Given the description of an element on the screen output the (x, y) to click on. 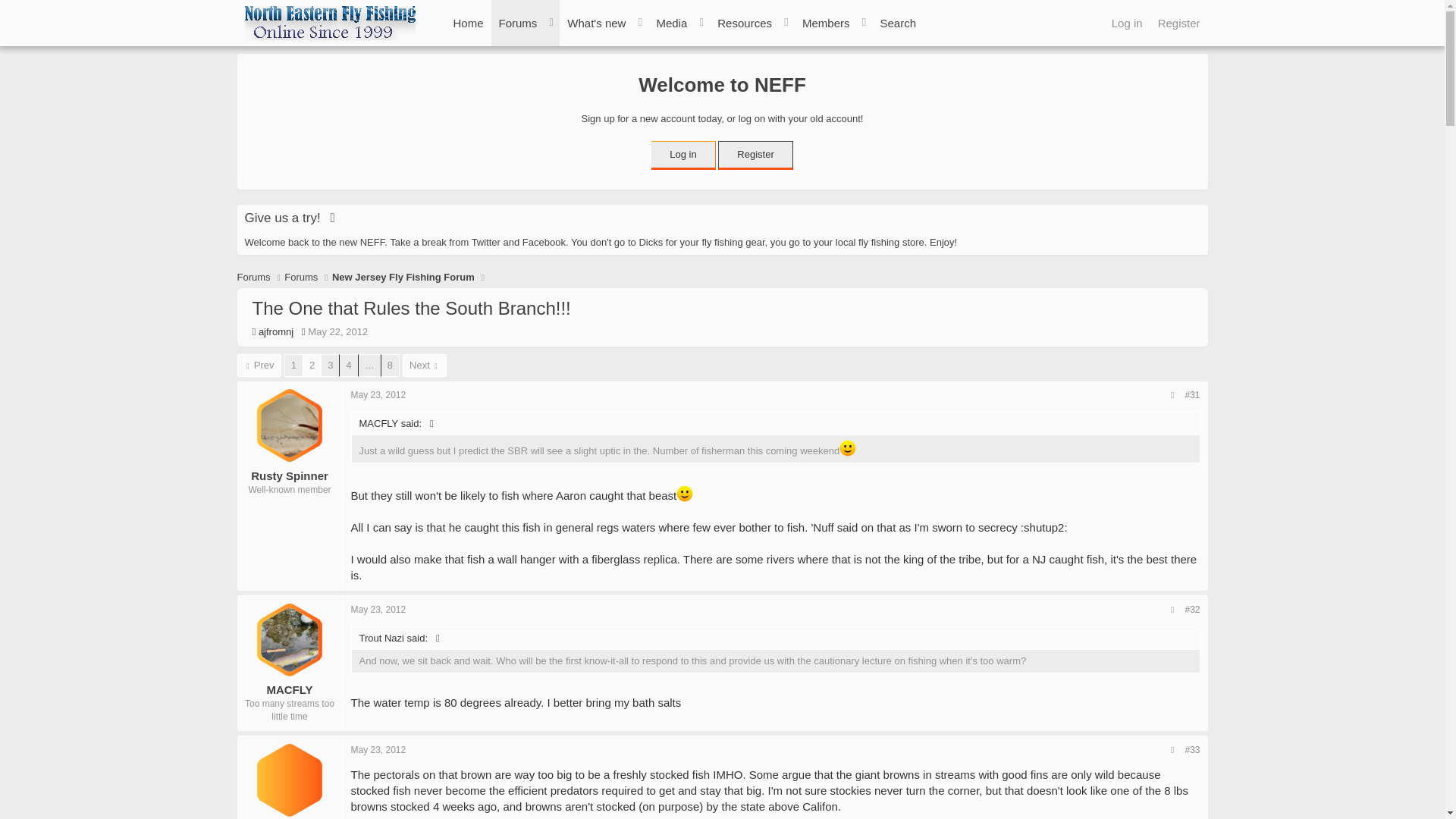
Members (825, 22)
May 23, 2012 at 1:09 PM (378, 394)
Media (670, 22)
Log in (575, 22)
Home (1126, 22)
What's new (468, 22)
Register (596, 22)
May 23, 2012 at 2:54 PM (575, 40)
Search (1179, 22)
Search (378, 749)
Forums (897, 22)
Resources (897, 22)
May 22, 2012 at 9:55 PM (518, 22)
